Given the description of an element on the screen output the (x, y) to click on. 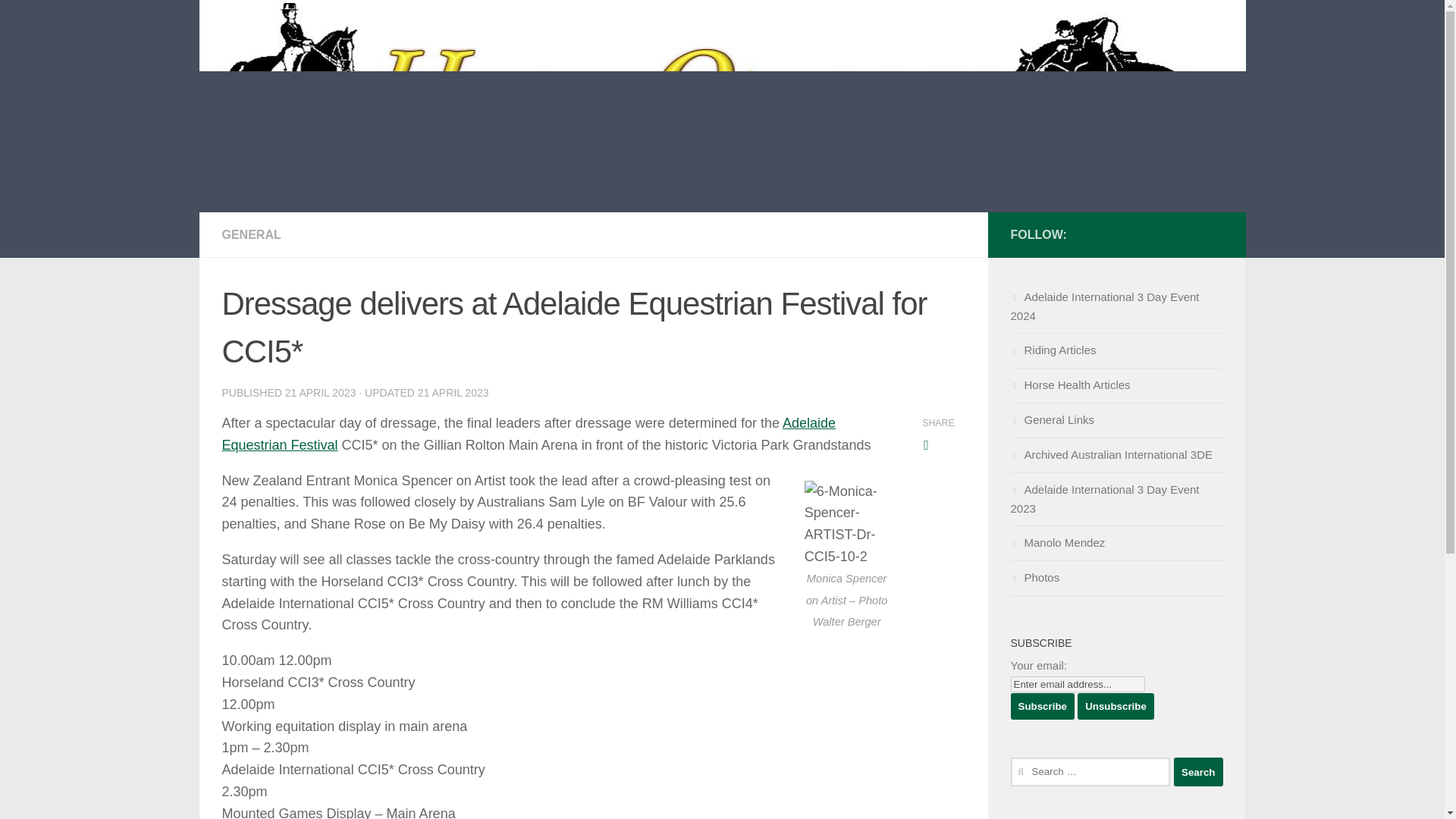
Search (1198, 771)
Adelaide Equestrian Festival (527, 433)
Riding Articles (1116, 350)
Photos (1116, 578)
Search (1198, 771)
Subscribe (1042, 705)
Archived Australian International 3DE (1116, 455)
Manolo Mendez (1116, 543)
Subscribe (1042, 705)
GENERAL (251, 234)
